Given the description of an element on the screen output the (x, y) to click on. 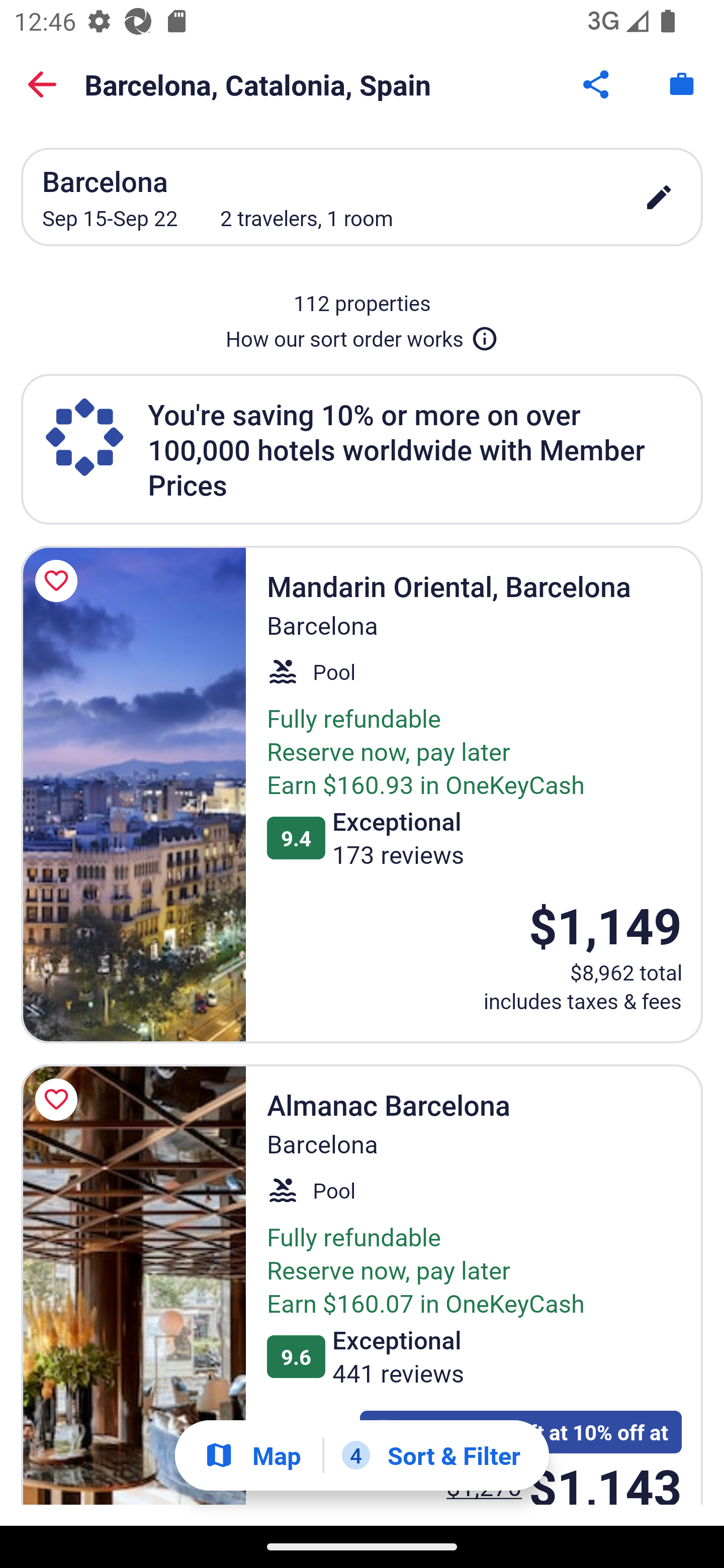
Back (42, 84)
Share Button (597, 84)
Trips. Button (681, 84)
Barcelona Sep 15-Sep 22 2 travelers, 1 room edit (361, 196)
How our sort order works (361, 334)
Save Mandarin Oriental, Barcelona to a trip (59, 580)
Mandarin Oriental, Barcelona (133, 793)
Save Almanac Barcelona to a trip (59, 1098)
Almanac Barcelona (133, 1284)
4 Sort & Filter 4 Filters applied. Filters Button (430, 1455)
Show map Map Show map Button (252, 1455)
